Given the description of an element on the screen output the (x, y) to click on. 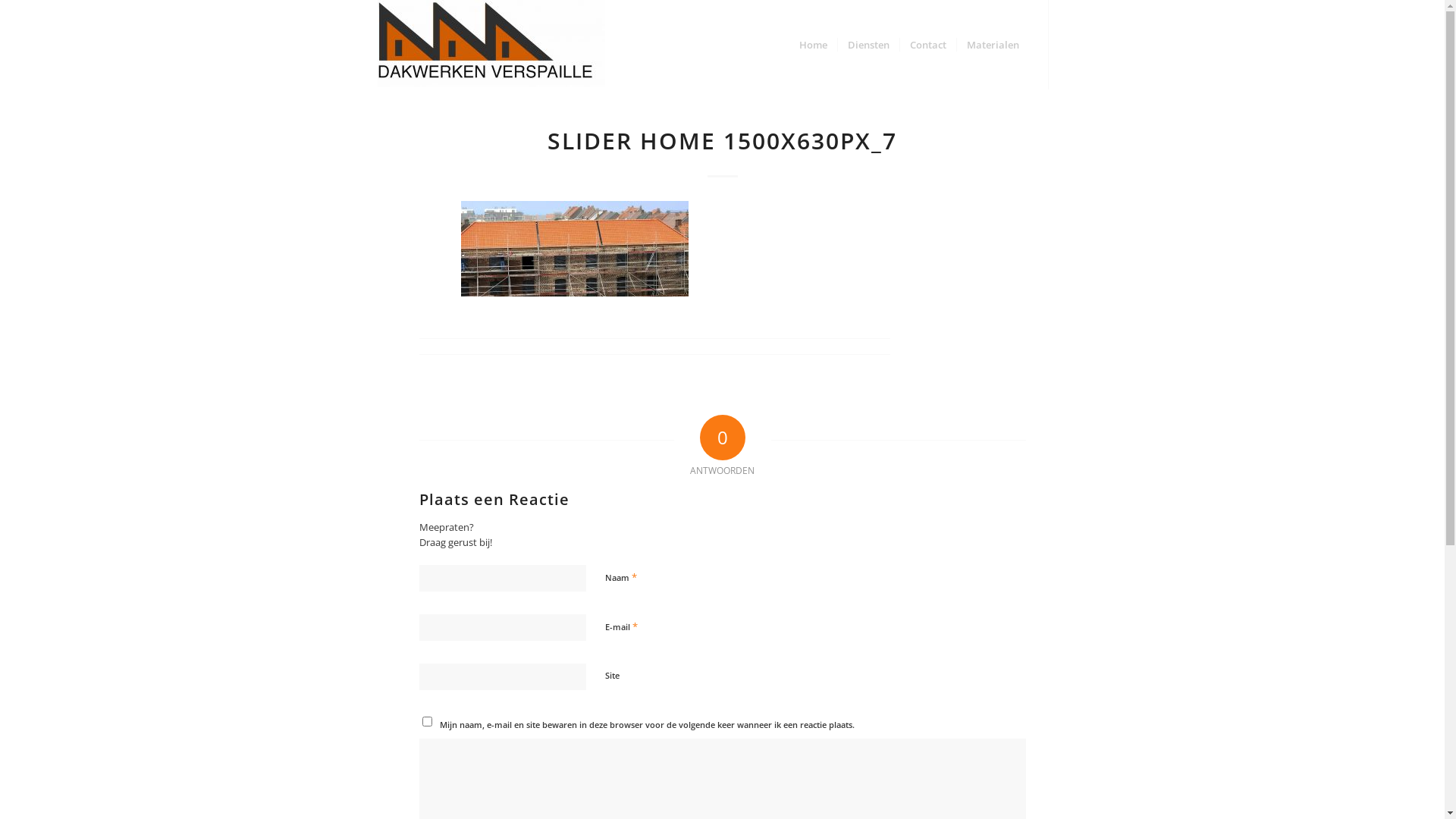
SLIDER HOME 1500X630PX_7 Element type: text (722, 140)
Home Element type: text (812, 44)
Materialen Element type: text (991, 44)
Contact Element type: text (927, 44)
Diensten Element type: text (868, 44)
